Given the description of an element on the screen output the (x, y) to click on. 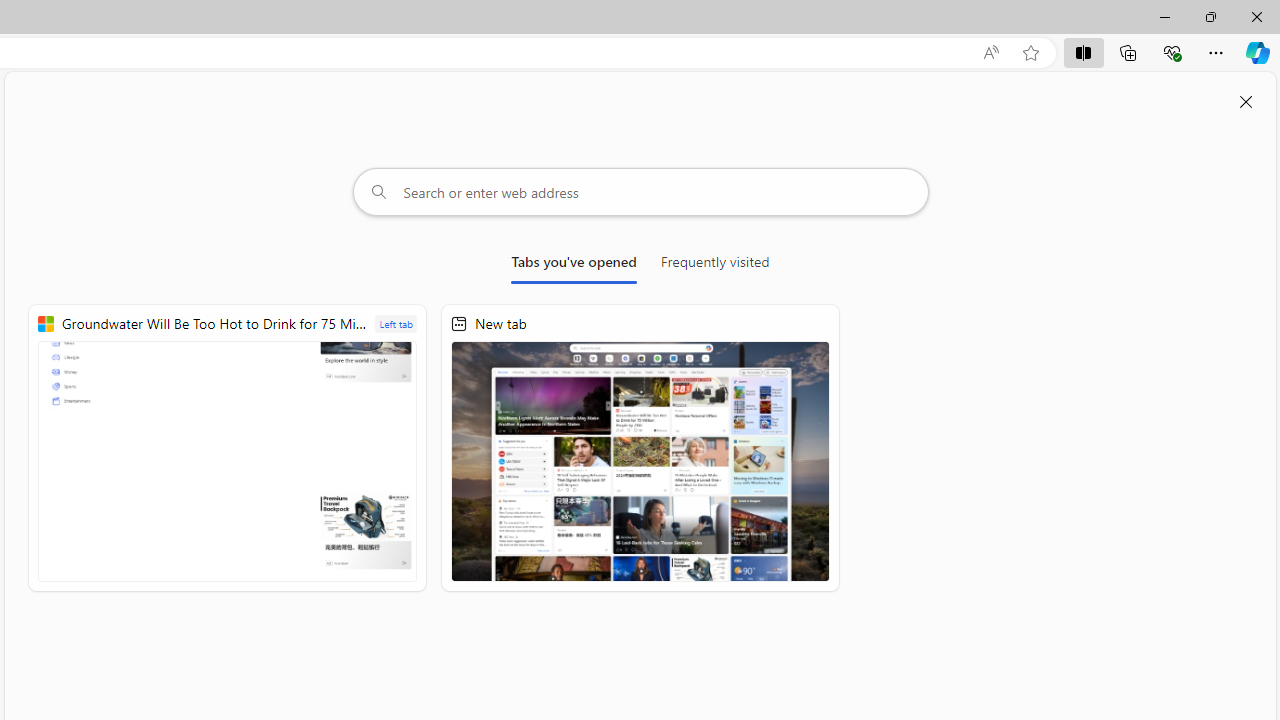
Close split screen (1245, 102)
